Given the description of an element on the screen output the (x, y) to click on. 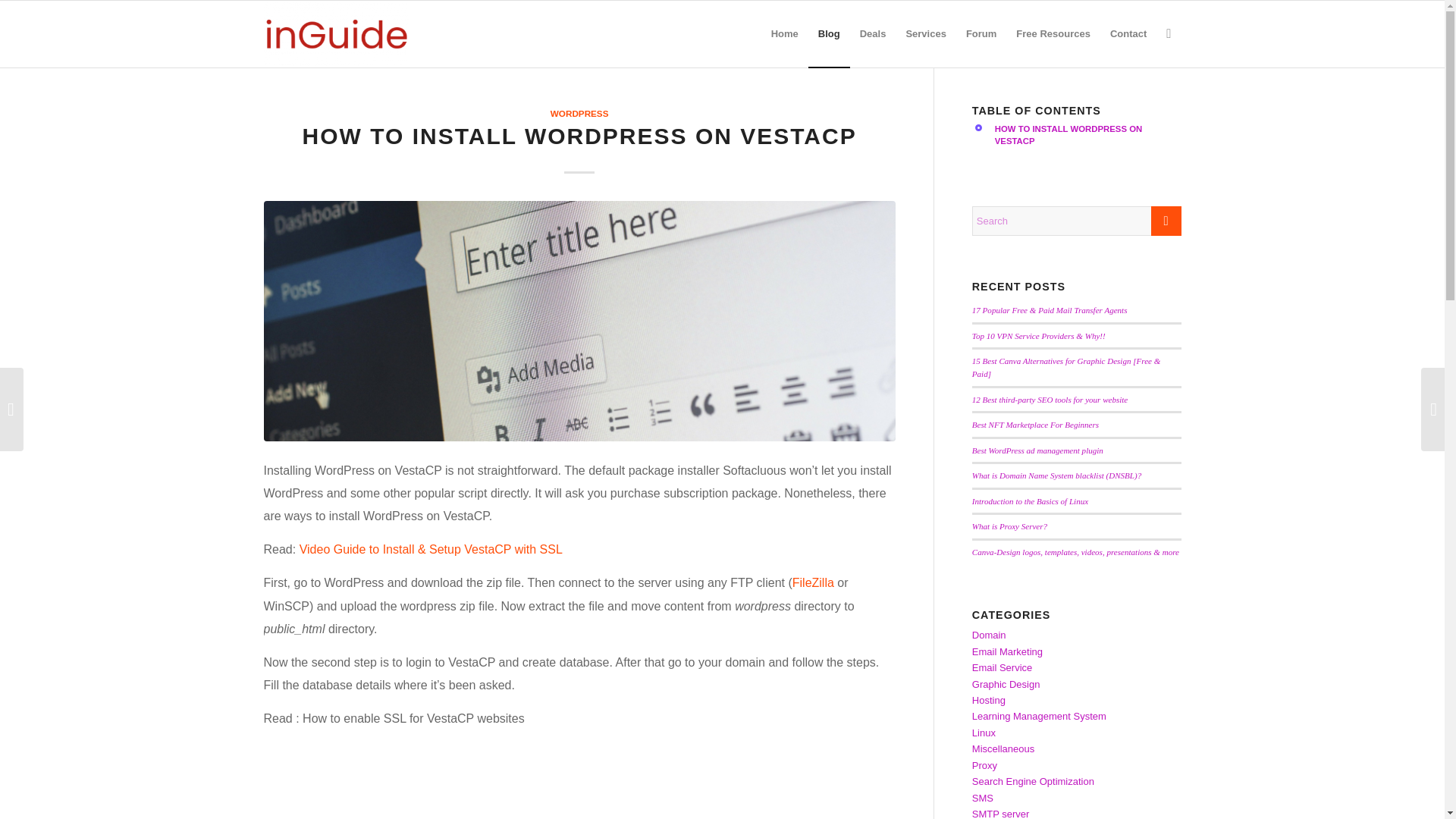
Best NFT Marketplace For Beginners (1035, 424)
Free Resources (1053, 33)
12 Best third-party SEO tools for your website (1049, 399)
HOW TO INSTALL WORDPRESS ON VESTACP (1087, 141)
Best WordPress ad management plugin (1037, 450)
FileZilla (813, 582)
Services (925, 33)
Introduction to the Basics of Linux (1029, 501)
HOW TO INSTALL WORDPRESS ON VESTACP (1076, 141)
WORDPRESS (579, 112)
